Given the description of an element on the screen output the (x, y) to click on. 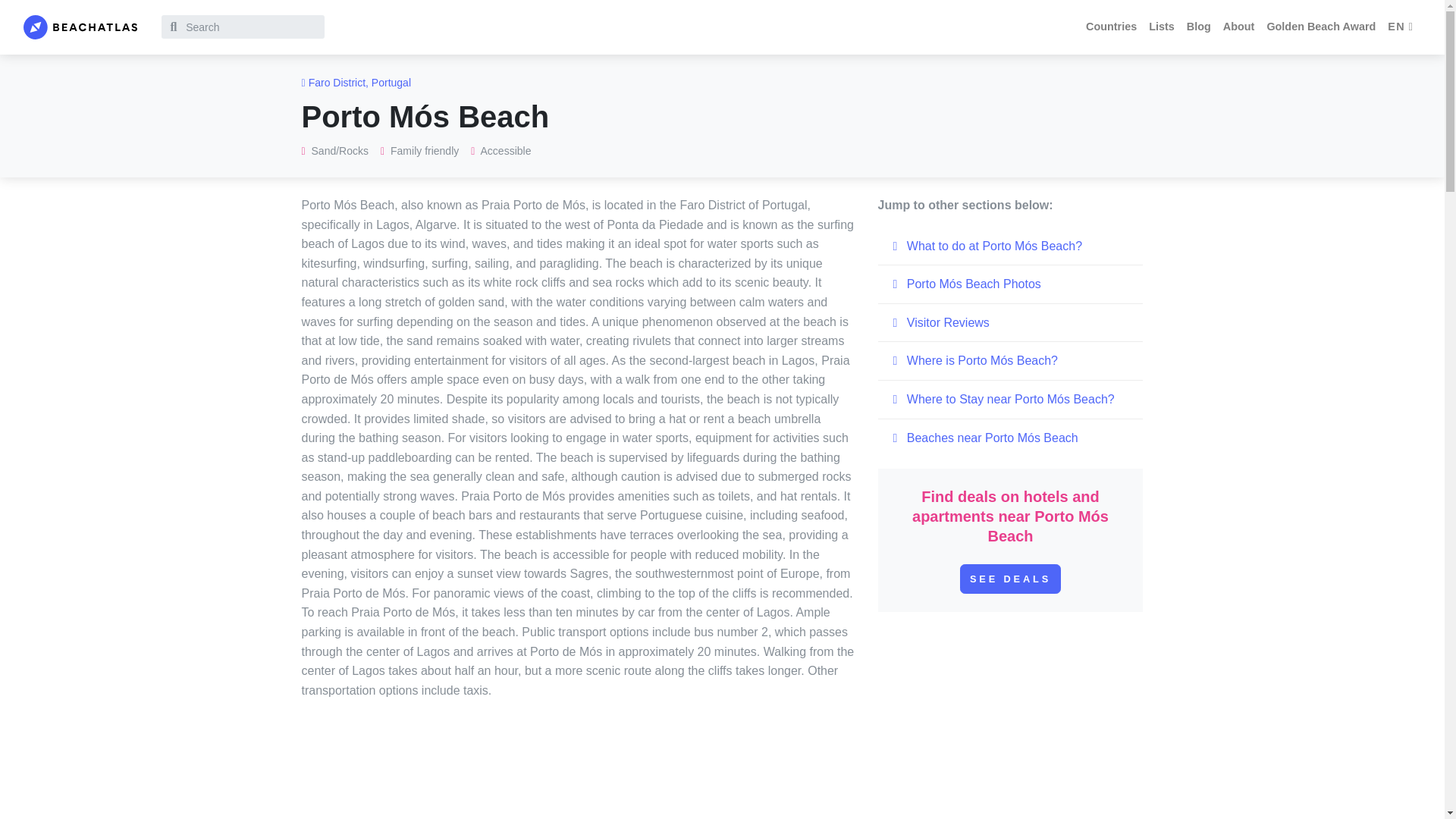
Advertisement (722, 774)
About (1238, 26)
SEE DEALS (1010, 578)
Blog (1198, 26)
Portugal (390, 82)
Golden Beach Award (1320, 26)
Countries (1111, 26)
EN (1401, 26)
Visitor Reviews (1009, 323)
Lists (1161, 26)
Faro District (336, 82)
